Given the description of an element on the screen output the (x, y) to click on. 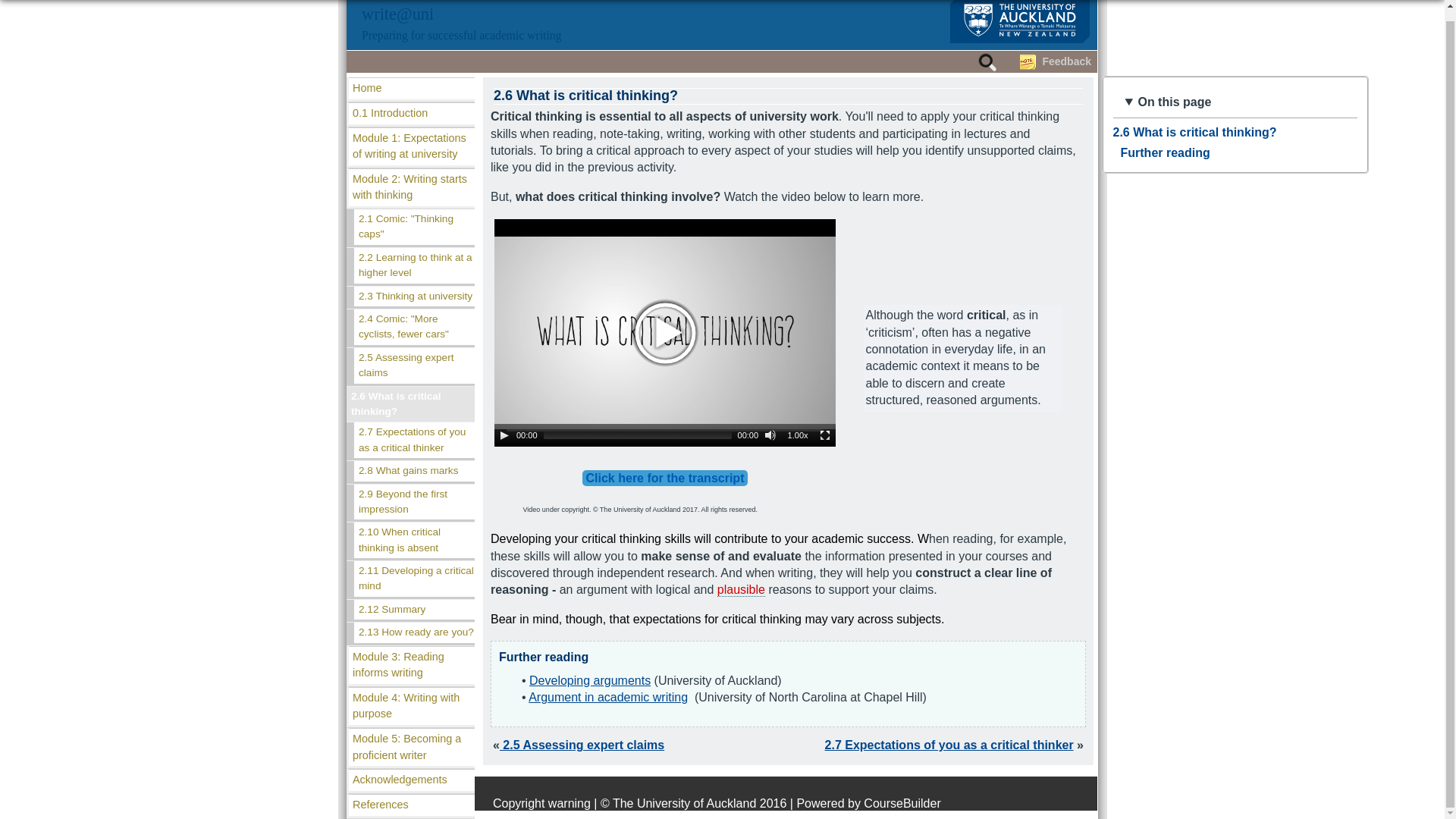
Play (504, 435)
Opens in a new window (607, 697)
Module 1: Expectations of writing at university (411, 146)
2.6 What is critical thinking? (410, 404)
Module 2: Writing starts with thinking (411, 187)
2.7 Expectations of you as a critical thinker (413, 439)
Opens in a new window (589, 680)
2.2 Learning to think at a higher level (413, 265)
Mute (770, 435)
Feedback (1066, 61)
2.1 Comic: "Thinking caps" (413, 226)
2.4 Comic: "More cyclists, fewer cars" (413, 326)
2.9 Beyond the first impression (413, 502)
Fullscreen (824, 435)
2.8 What gains marks (413, 470)
